Given the description of an element on the screen output the (x, y) to click on. 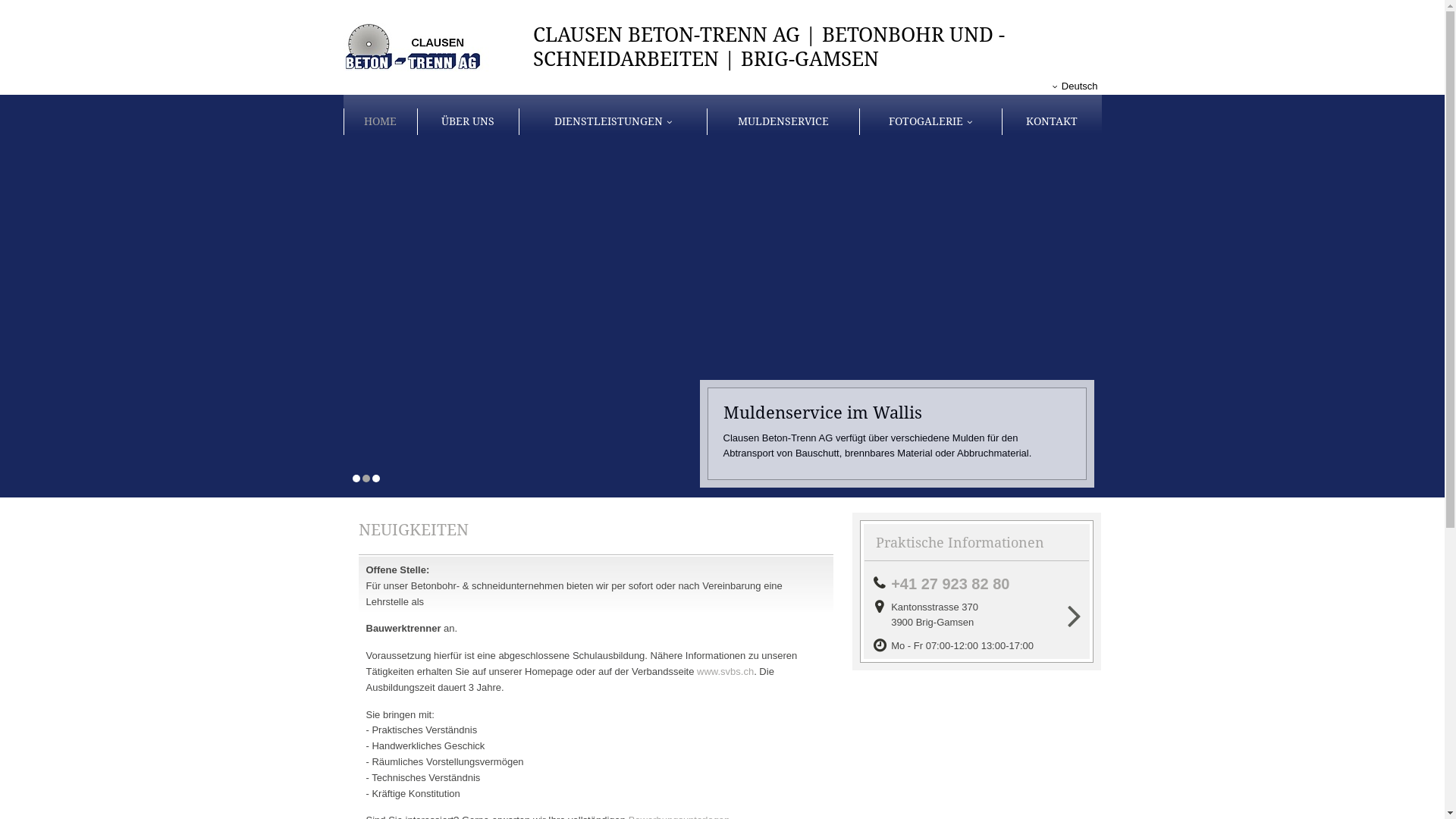
DIENSTLEISTUNGEN Element type: text (612, 121)
www.svbs.ch Element type: text (724, 671)
Deutsch Element type: text (1075, 85)
HOME Element type: text (379, 121)
FOTOGALERIE Element type: text (930, 121)
MULDENSERVICE Element type: text (782, 121)
KONTAKT Element type: text (1051, 121)
+41 27 923 82 80 Element type: text (954, 584)
